Given the description of an element on the screen output the (x, y) to click on. 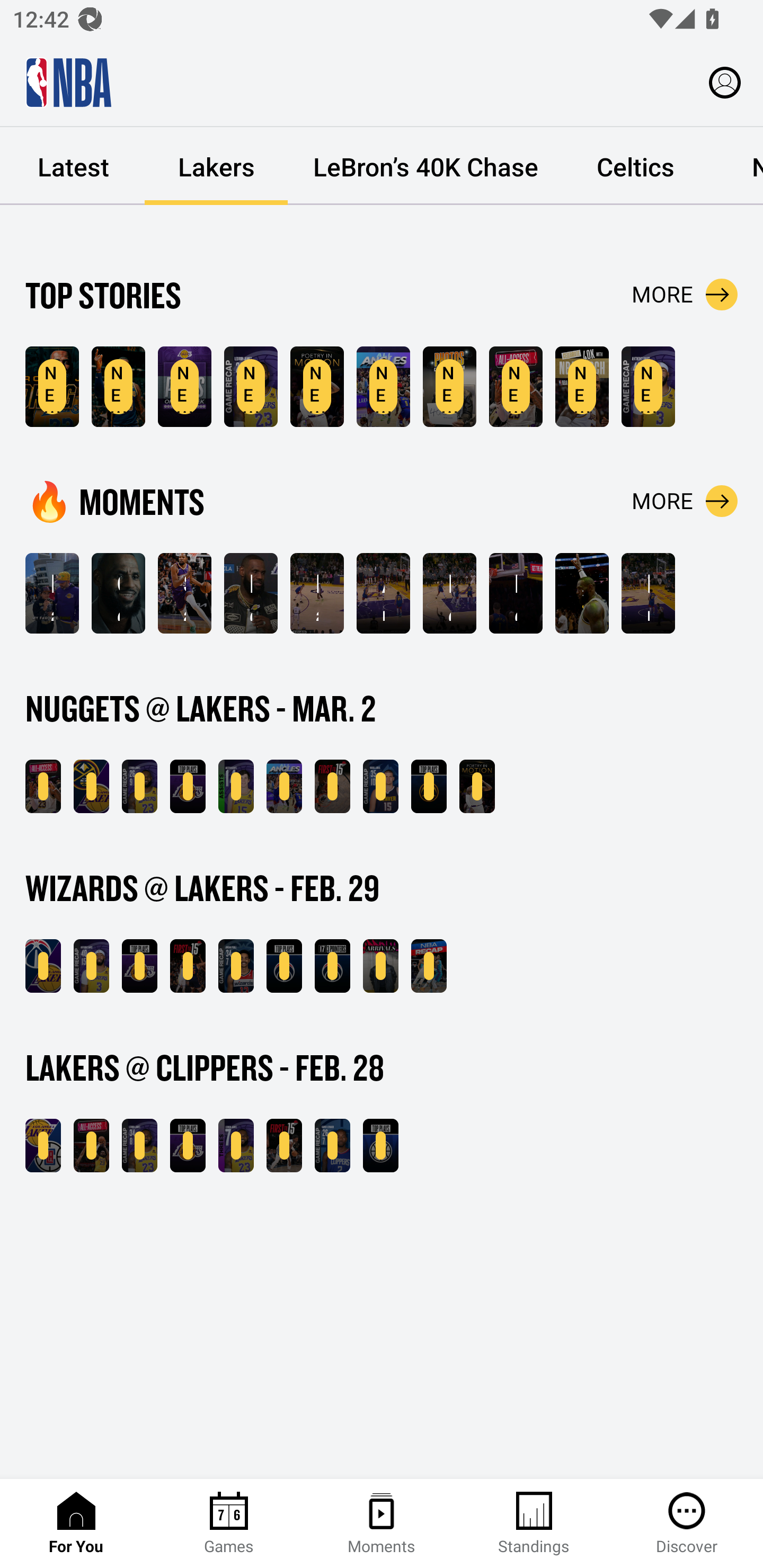
Profile (724, 81)
Latest (72, 166)
LeBron’s 40K Chase (425, 166)
Celtics (634, 166)
MORE (684, 294)
NEW LeBron Tracker: Lakers star reaches 40,000 (51, 386)
NEW Milestone Baskets From LeBron's Career (117, 386)
NEW LAL's Top Plays of Week 19 (184, 386)
NEW Highlights From LeBron James' 26-Point Game (250, 386)
NEW LeBron's Historic Night In Slo-Mo 🎥 (317, 386)
All Angles Of LeBron's Historic Shot 👀 NEW (383, 386)
Scenes From LeBron's 40K Night 📸 NEW (449, 386)
Inside LeBron's 40K Milestone On ABC 🎥 NEW (515, 386)
Shop LeBron Merch Now 👑🛒 NEW (581, 386)
Highlights From Anthony Davis' 40-Point Game NEW (648, 386)
MORE (684, 500)
Saturday's Top Plays In 30 Seconds ⏱ (184, 593)
Radio Call Of The Lebron Bucket For 40K 📻 (317, 593)
Austin Reaves with the assist (383, 593)
LeBron James hits from way downtown (449, 593)
LeBron James with the hoop & harm (515, 593)
👏👑🙌 (581, 593)
Dunk by Jaxson Hayes (648, 593)
NEW Inside LeBron's 40K Milestone On ABC 🎥 (43, 785)
NEW DEN 124, LAL 114 - Mar 2 (91, 785)
NEW Highlights From LeBron James' 26-Point Game (139, 785)
NEW LAL's Top Plays from DEN vs. LAL (187, 785)
NEW Highlights From Austin Reaves' 14-Assist Game (236, 785)
All Angles Of LeBron's Historic Shot 👀 NEW (284, 785)
First To 15 Mar. 2nd NEW (332, 785)
Highlights From Nikola Jokic's 35-Point Game NEW (380, 785)
DEN's Top Plays from DEN vs. LAL NEW (428, 785)
LeBron's Historic Night In Slo-Mo 🎥 NEW (477, 785)
NEW LAL 134, WAS 131 - Feb 29 (43, 965)
NEW Highlights From Anthony Davis' 40-Point Game (91, 965)
NEW LAL's Top Plays from WAS vs. LAL (139, 965)
NEW First To 15: Feb. 29th (187, 965)
NEW Highlights From Jordan Poole's 34-Point Game (236, 965)
WAS' Top Plays from WAS vs. LAL NEW (284, 965)
All 3's from WAS' 17 3-Pointer Night NEW (332, 965)
Thursday Night's Arrivals 🔥 NEW (380, 965)
Thursday's Recap NEW (428, 965)
NEW LAL 116, LAC 112 - Feb 28 (43, 1145)
NEW LeBron Takes Over In The Battle Of LA (91, 1145)
NEW Highlights From LeBron James's 34-Point Game (139, 1145)
NEW LAL's Top Plays from LAL vs. LAC (187, 1145)
First To 15: Feb. 28th NEW (284, 1145)
Highlights From Kawhi Leonard's 26-Point Game NEW (332, 1145)
LAC's Top Plays from LAL vs. LAC NEW (380, 1145)
Games (228, 1523)
Moments (381, 1523)
Standings (533, 1523)
Discover (686, 1523)
